Given the description of an element on the screen output the (x, y) to click on. 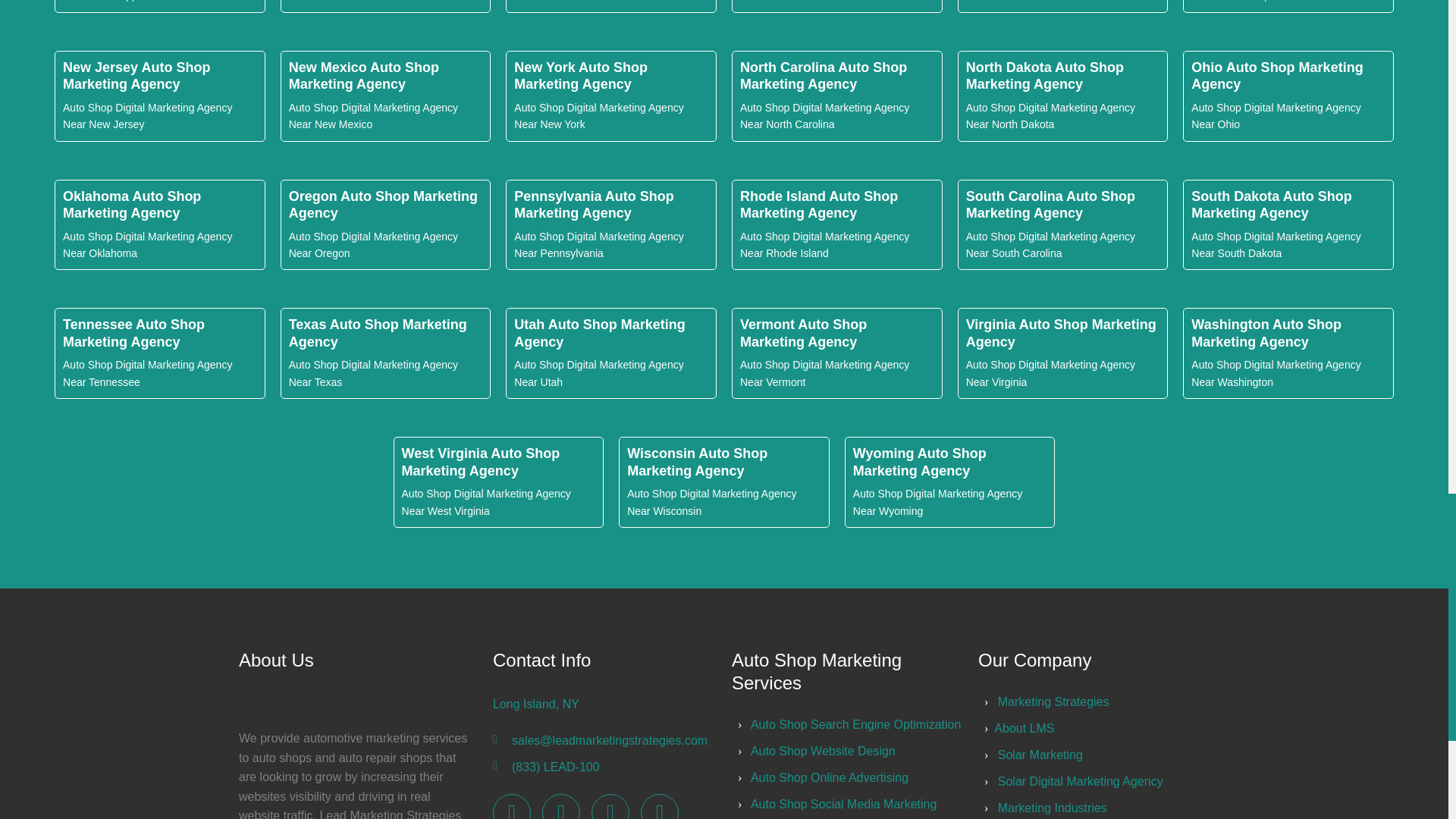
Lead Marketing Strategies (512, 806)
Lead Marketing Strategies (1053, 701)
About LMS (1024, 727)
Reputation Management (829, 777)
Lead Marketing Strategies (609, 806)
Lead Marketing Strategies (560, 806)
Search Engine Optimization (855, 724)
Solar Marketing (1040, 754)
Lead Marketing Strategies (659, 806)
SEO Copywriting (843, 803)
PPC Advertising (823, 750)
